Given the description of an element on the screen output the (x, y) to click on. 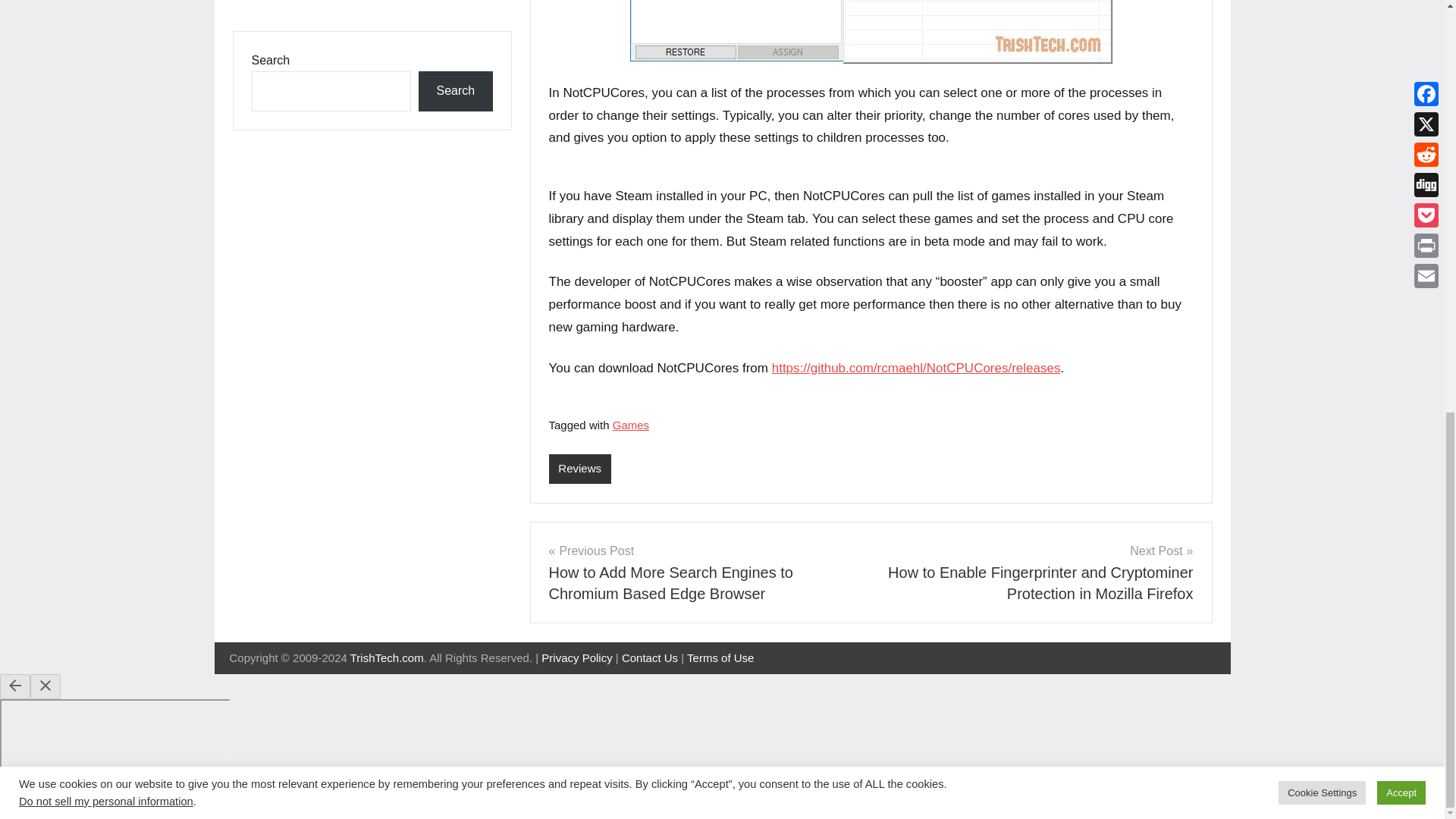
Privacy Policy (576, 657)
Search (455, 91)
Reviews (579, 469)
TrishTech.com (386, 657)
Advertisement (371, 6)
Terms of Use (720, 657)
Games (630, 424)
Contact Us (649, 657)
